Given the description of an element on the screen output the (x, y) to click on. 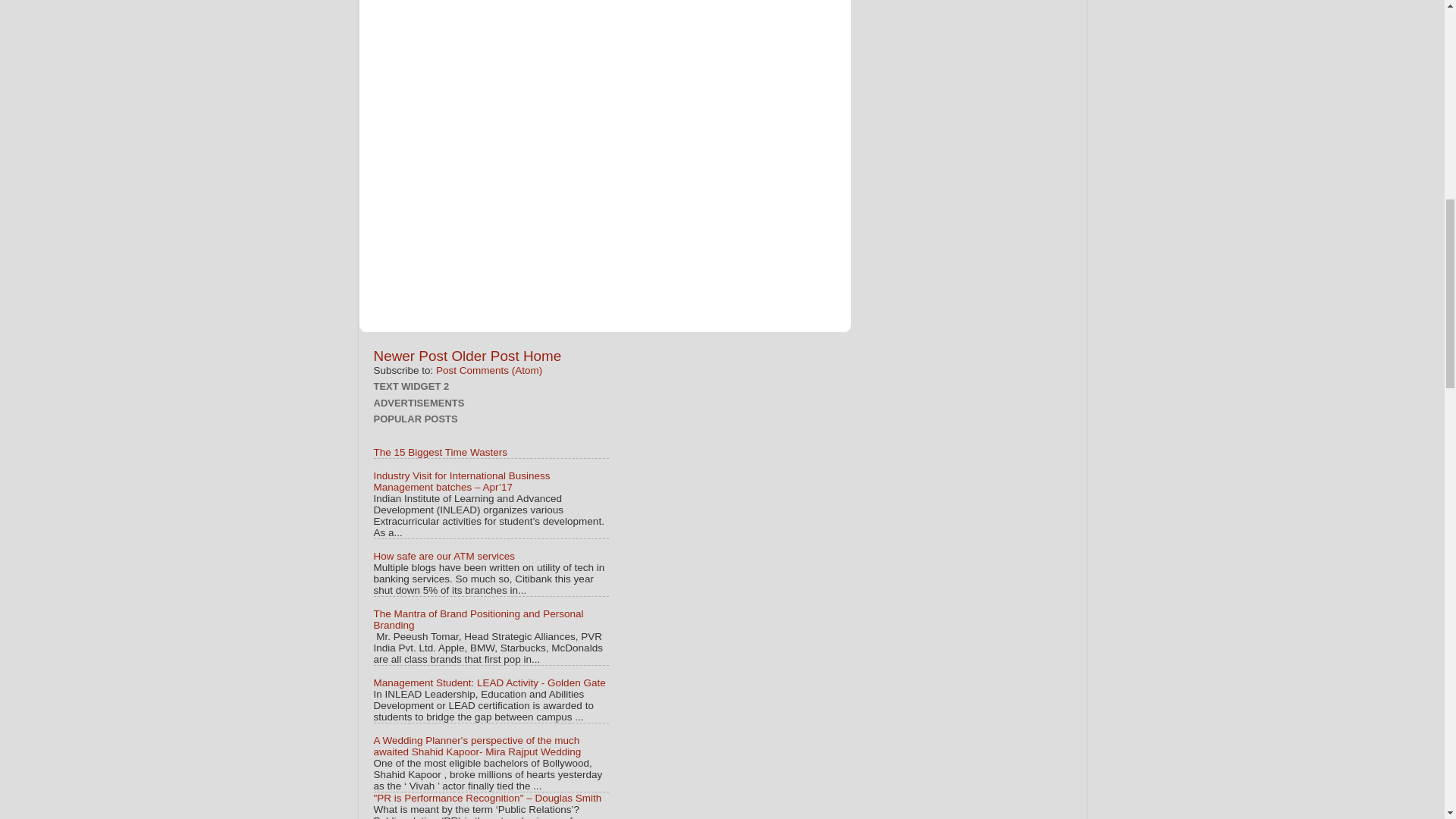
Management Student: LEAD Activity - Golden Gate (488, 682)
Newer Post (409, 355)
The 15 Biggest Time Wasters (439, 451)
Newer Post (409, 355)
Older Post (484, 355)
Older Post (484, 355)
The Mantra of Brand Positioning and Personal Branding (477, 619)
Home (541, 355)
How safe are our ATM services (443, 555)
